Given the description of an element on the screen output the (x, y) to click on. 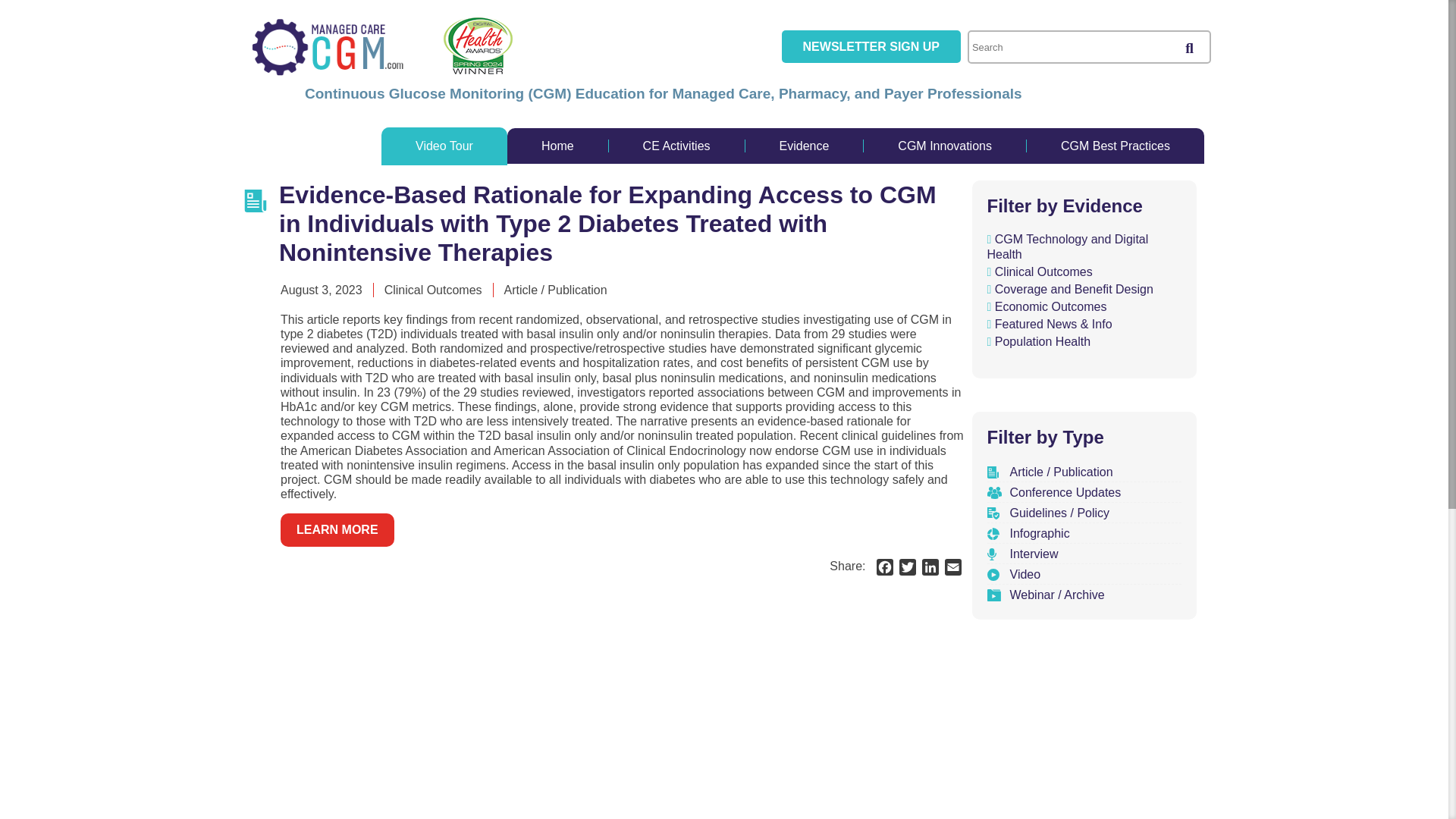
LinkedIn (930, 568)
Twitter (907, 568)
NEWSLETTER SIGN UP (870, 46)
Interview (1027, 553)
CGM Technology and Digital Health (1082, 246)
ManagedCareCGM (327, 46)
LinkedIn (930, 568)
Video (1019, 574)
LEARN MORE (337, 529)
Facebook (884, 568)
Population Health (1038, 341)
Infographic (1032, 533)
CE Activities (676, 145)
Email (952, 568)
CGM Innovations (944, 145)
